Given the description of an element on the screen output the (x, y) to click on. 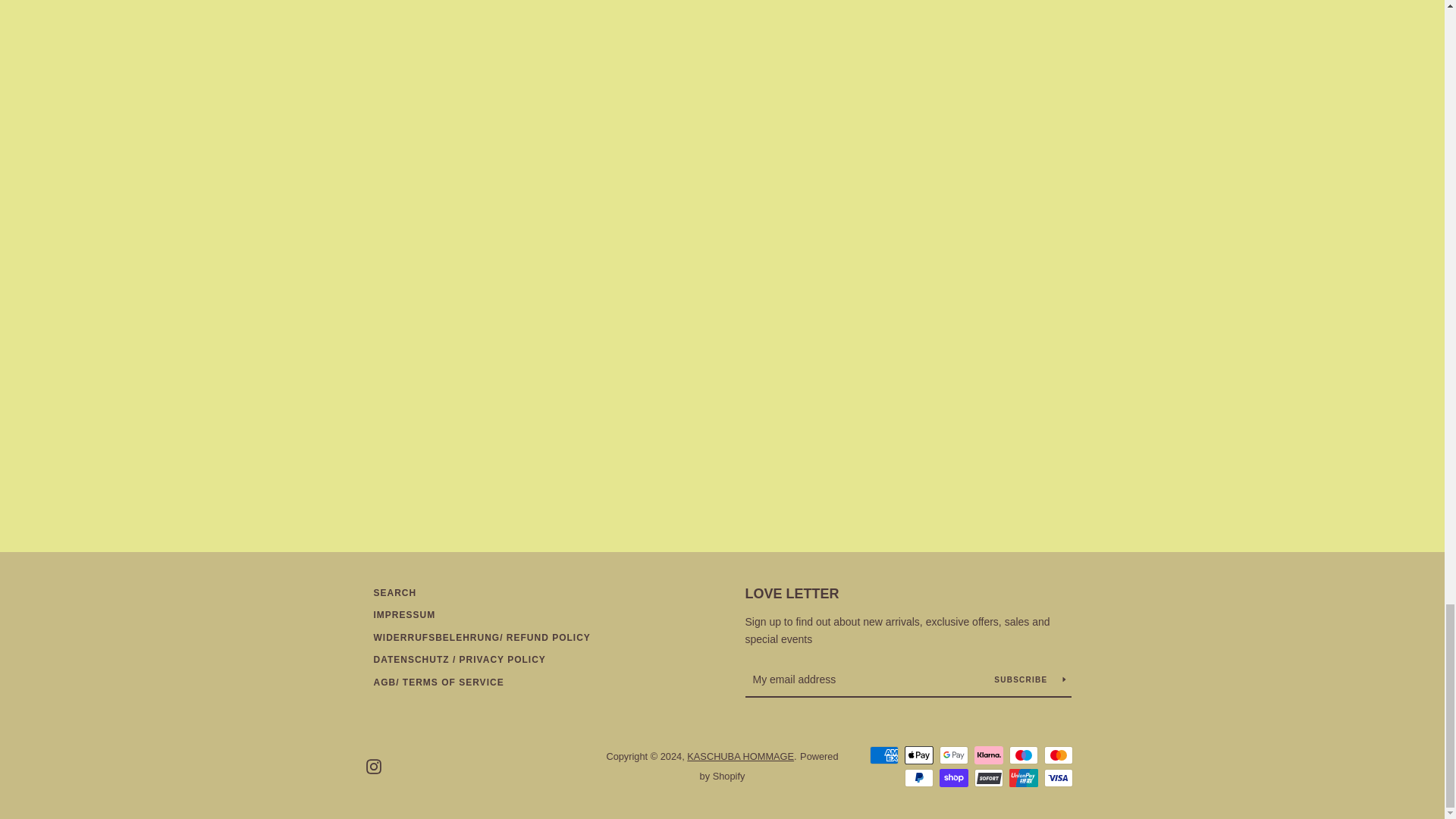
KASCHUBA HOMMAGE on Instagram (372, 765)
SOFORT (988, 778)
Shop Pay (953, 778)
Apple Pay (918, 755)
Klarna (988, 755)
Google Pay (953, 755)
PayPal (918, 778)
Mastercard (1057, 755)
Union Pay (1022, 778)
American Express (883, 755)
Maestro (1022, 755)
Visa (1057, 778)
